Given the description of an element on the screen output the (x, y) to click on. 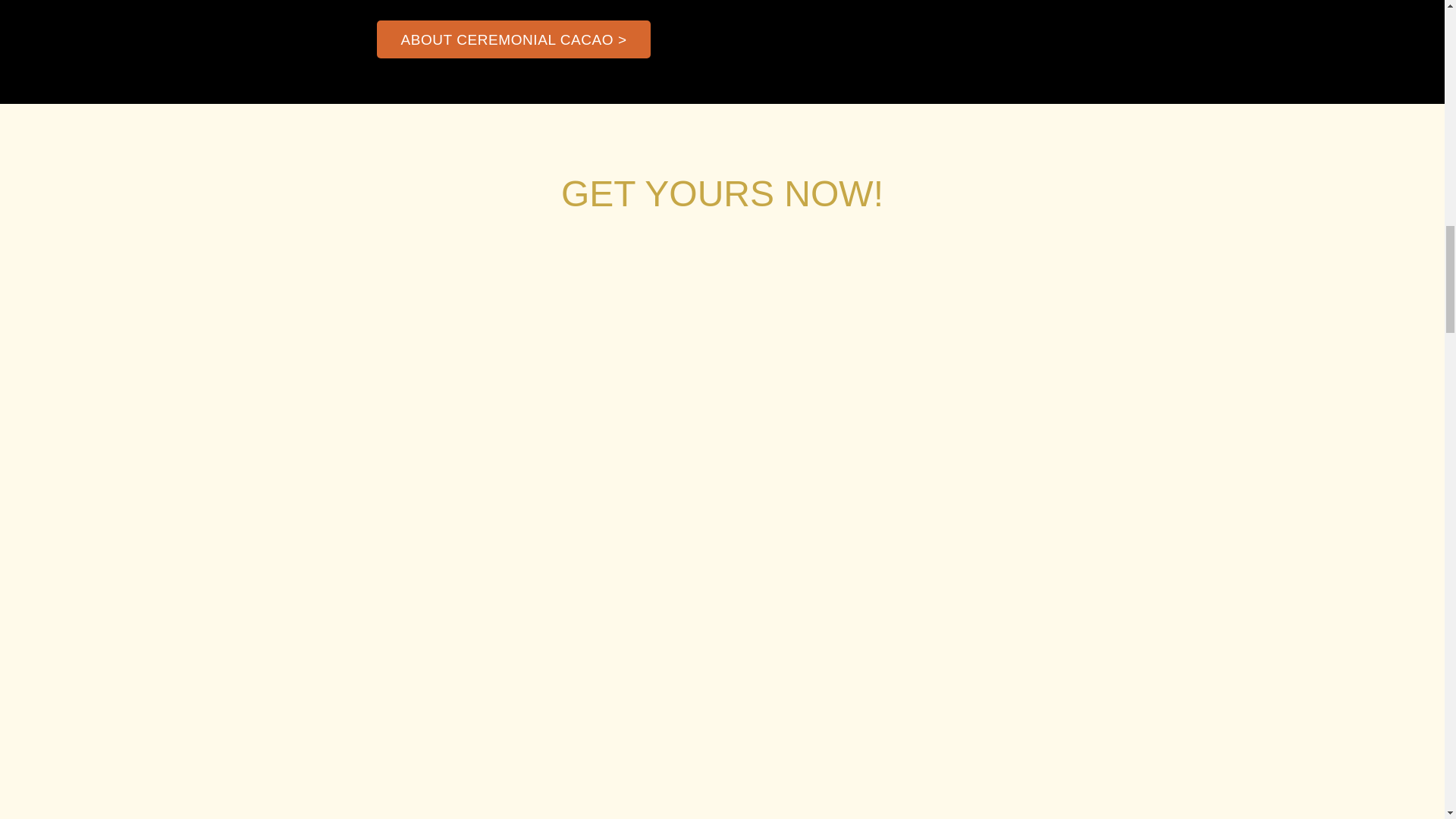
SHOW ALL (721, 193)
